Given the description of an element on the screen output the (x, y) to click on. 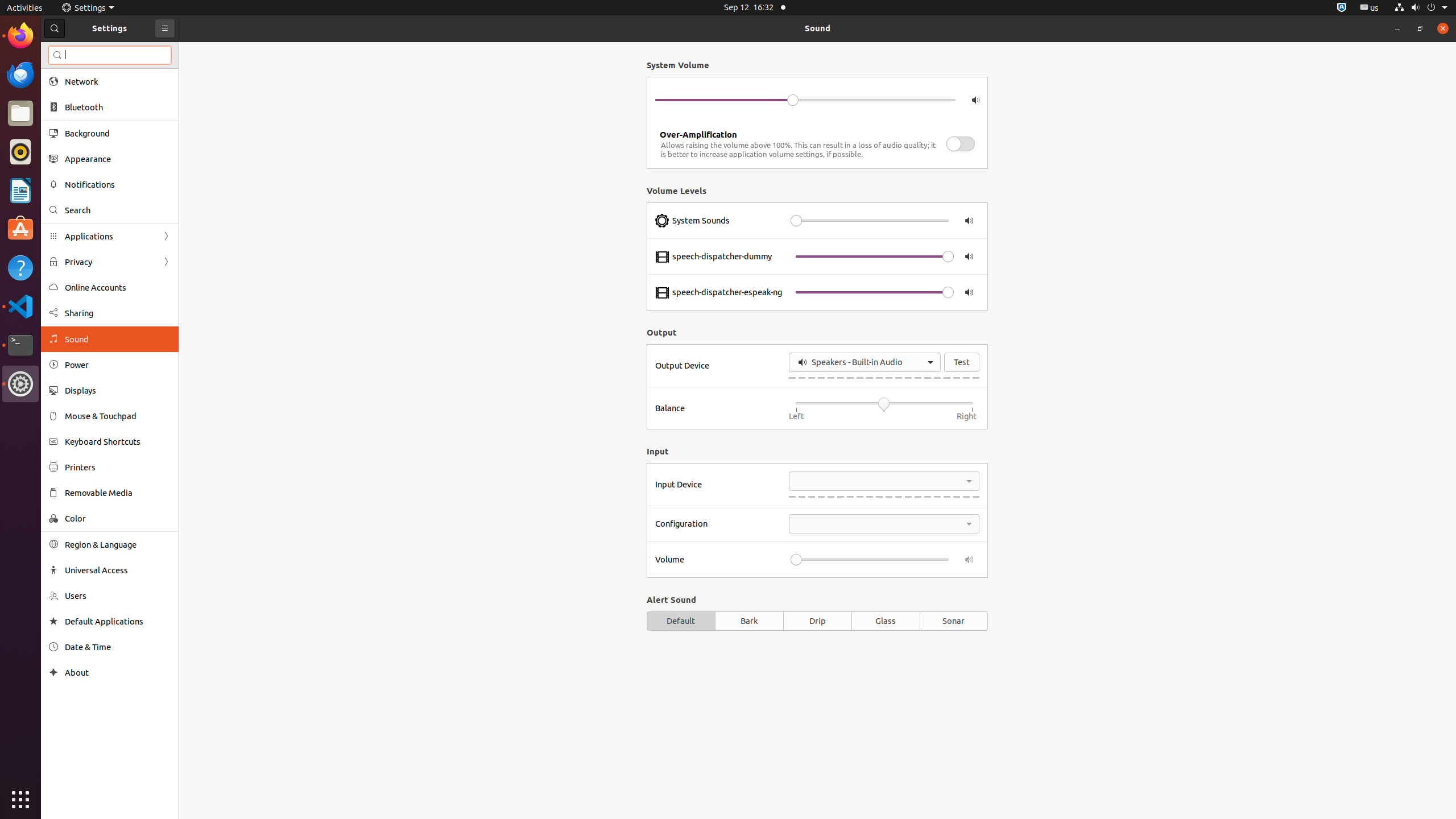
Users Element type: label (117, 595)
Search Element type: label (117, 209)
Mouse & Touchpad Element type: label (117, 415)
Bark Element type: toggle-button (748, 620)
li.txt Element type: label (146, 50)
